Given the description of an element on the screen output the (x, y) to click on. 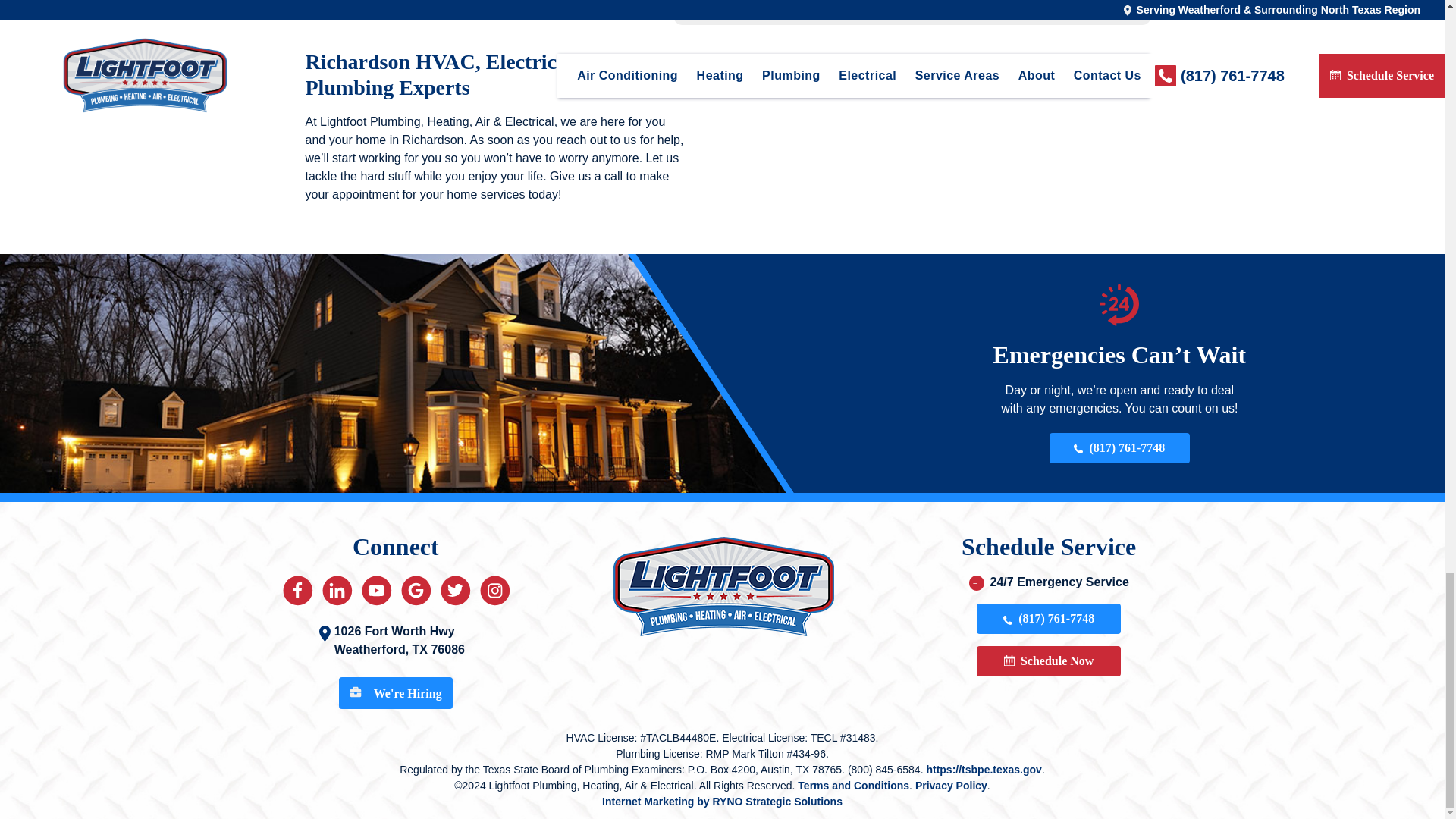
Instagram (494, 590)
Youtube (376, 590)
Google (415, 590)
Twitter (454, 590)
Facebook (297, 590)
Linkedin (336, 590)
